Given the description of an element on the screen output the (x, y) to click on. 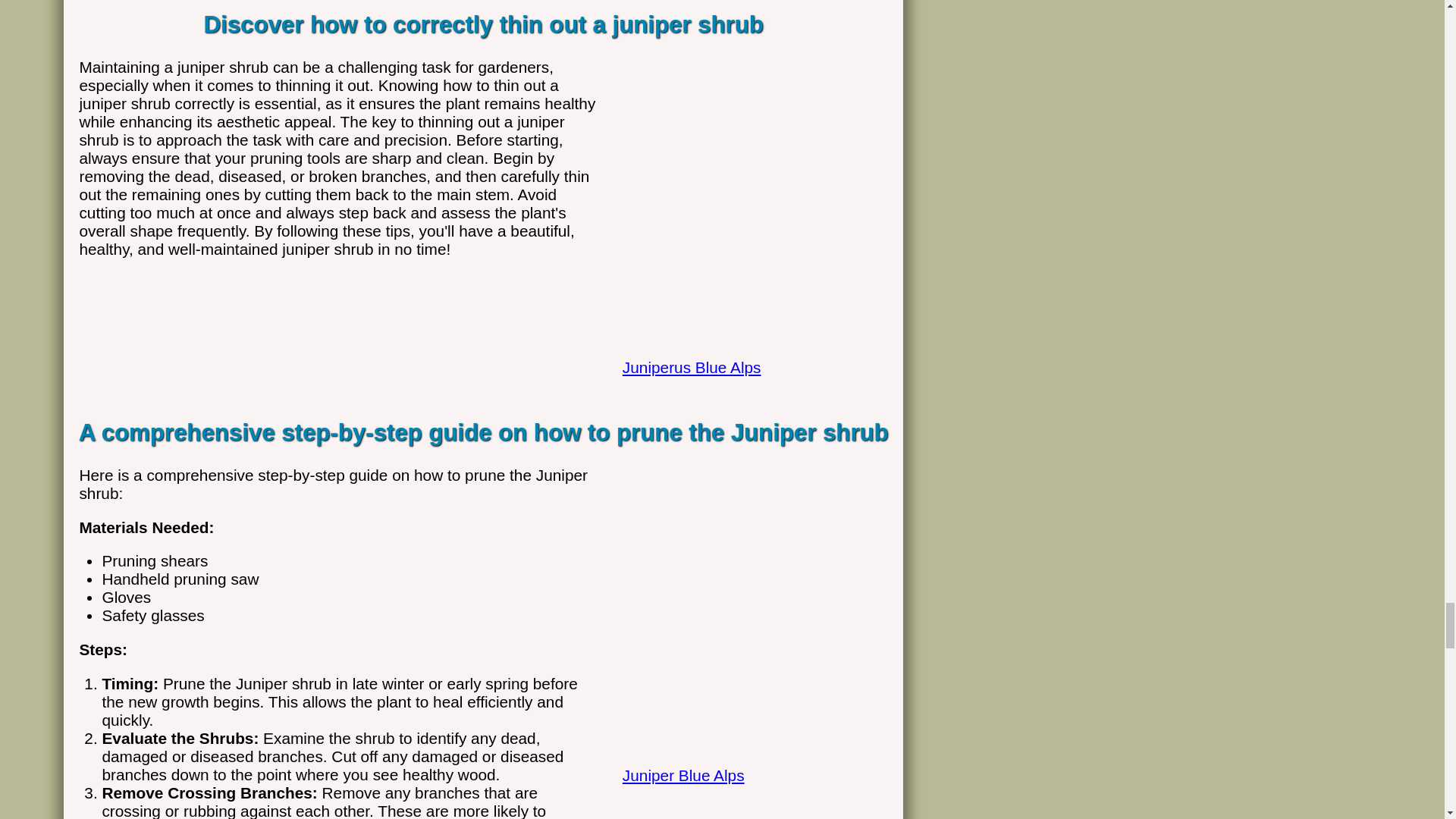
Juniperus Blue Alps (747, 350)
